Given the description of an element on the screen output the (x, y) to click on. 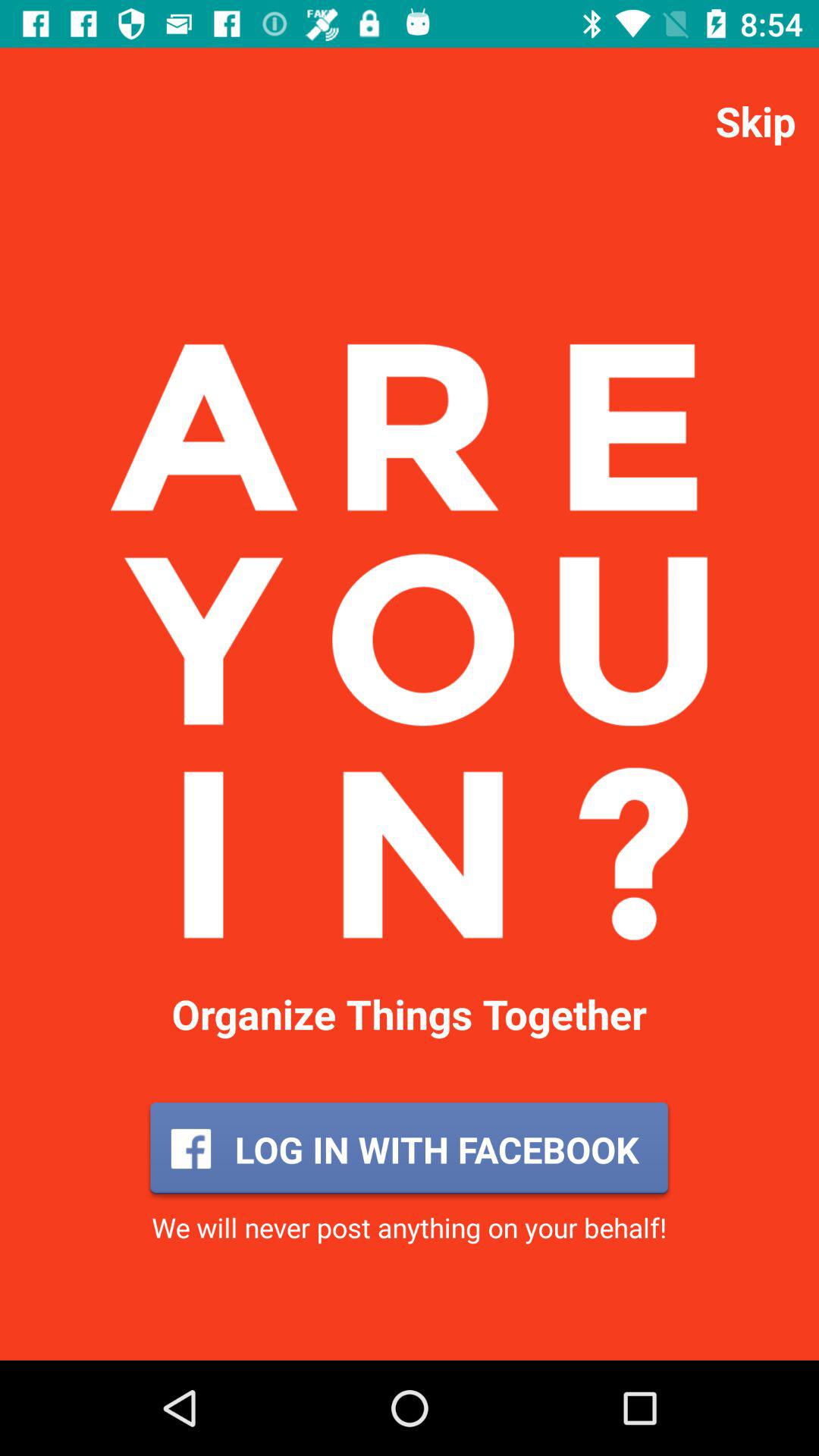
scroll until skip app (755, 120)
